Given the description of an element on the screen output the (x, y) to click on. 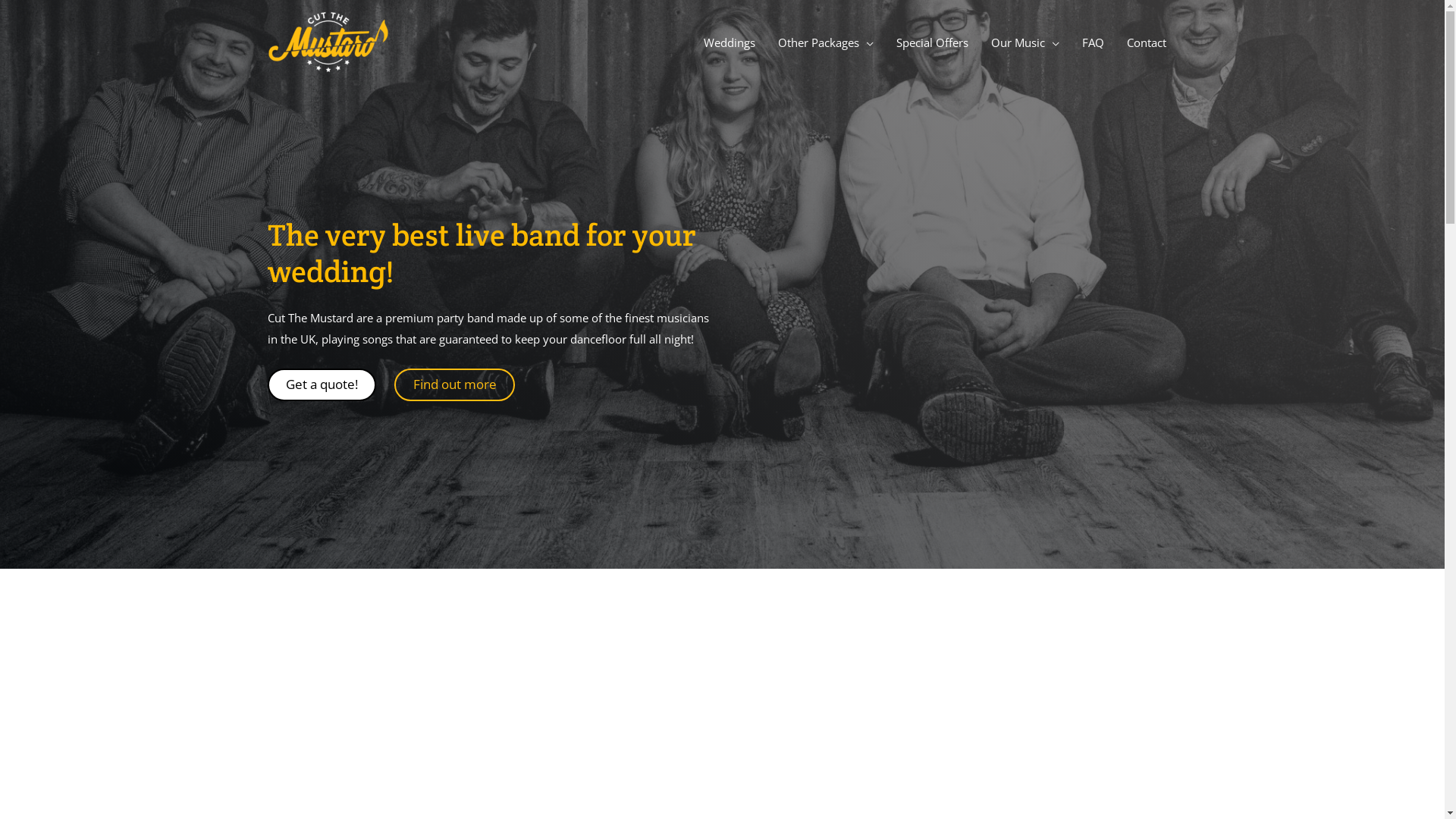
Weddings Element type: text (728, 41)
Special Offers Element type: text (931, 41)
Our Music Element type: text (1024, 41)
Find out more Element type: text (454, 384)
Contact Element type: text (1145, 41)
FAQ Element type: text (1092, 41)
Other Packages Element type: text (824, 41)
Get a quote! Element type: text (321, 384)
